Given the description of an element on the screen output the (x, y) to click on. 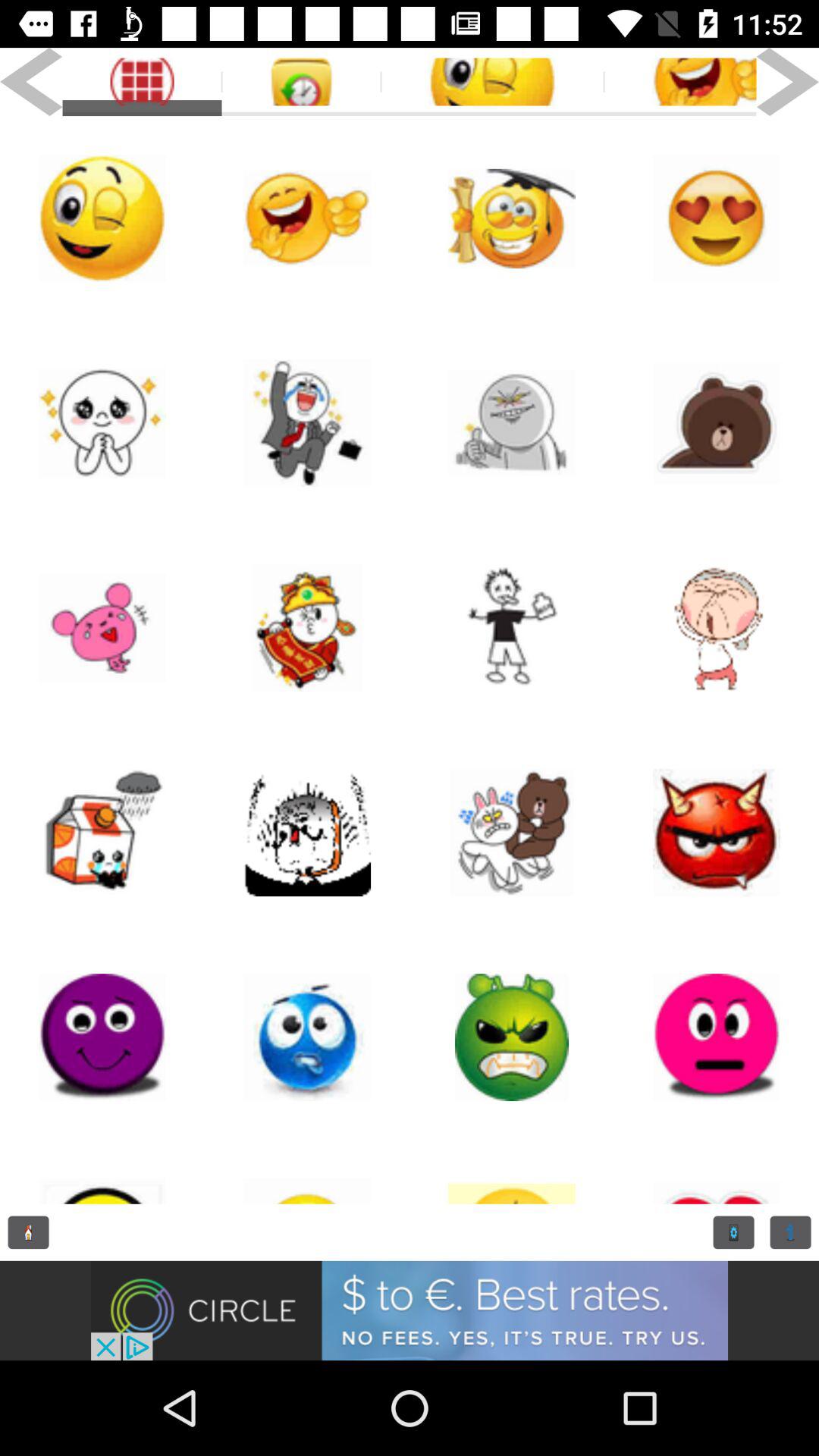
standing in picture (511, 627)
